Given the description of an element on the screen output the (x, y) to click on. 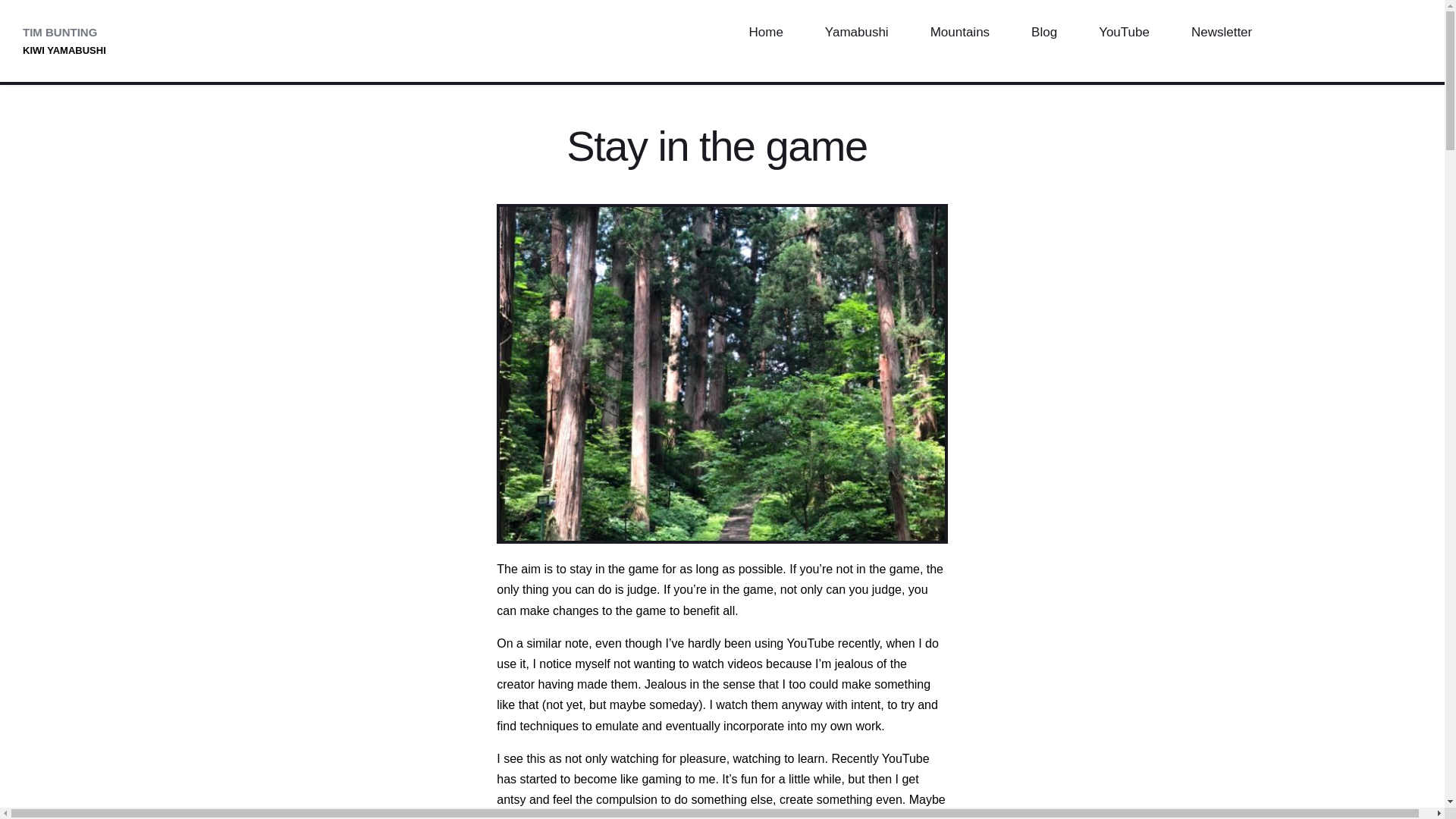
YouTube (1123, 32)
Newsletter (1221, 32)
Blog (1044, 32)
Mountains (959, 32)
Yamabushi (856, 32)
Home (765, 32)
